Given the description of an element on the screen output the (x, y) to click on. 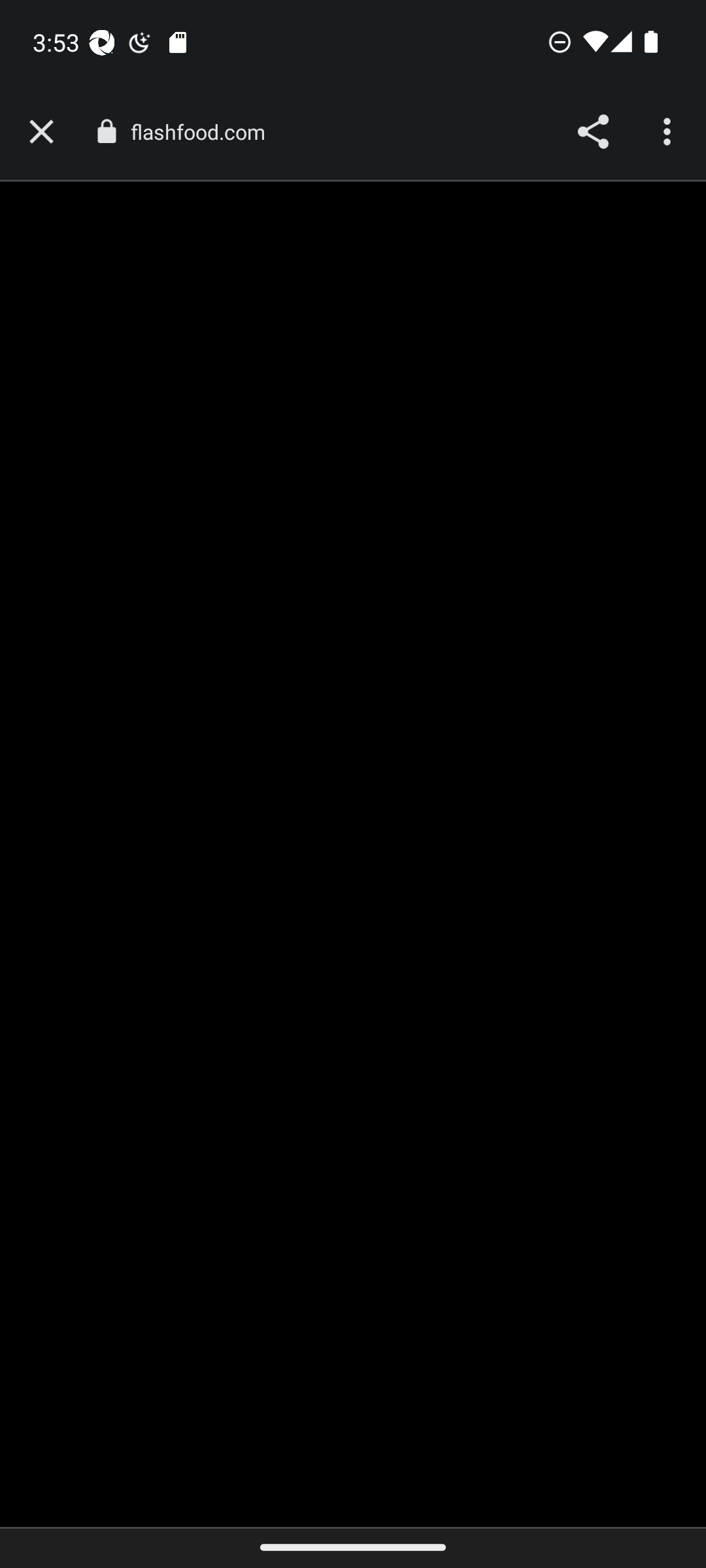
Close tab (41, 131)
Share (592, 131)
More options (669, 131)
Connection is secure (106, 131)
flashfood.com (204, 131)
